Given the description of an element on the screen output the (x, y) to click on. 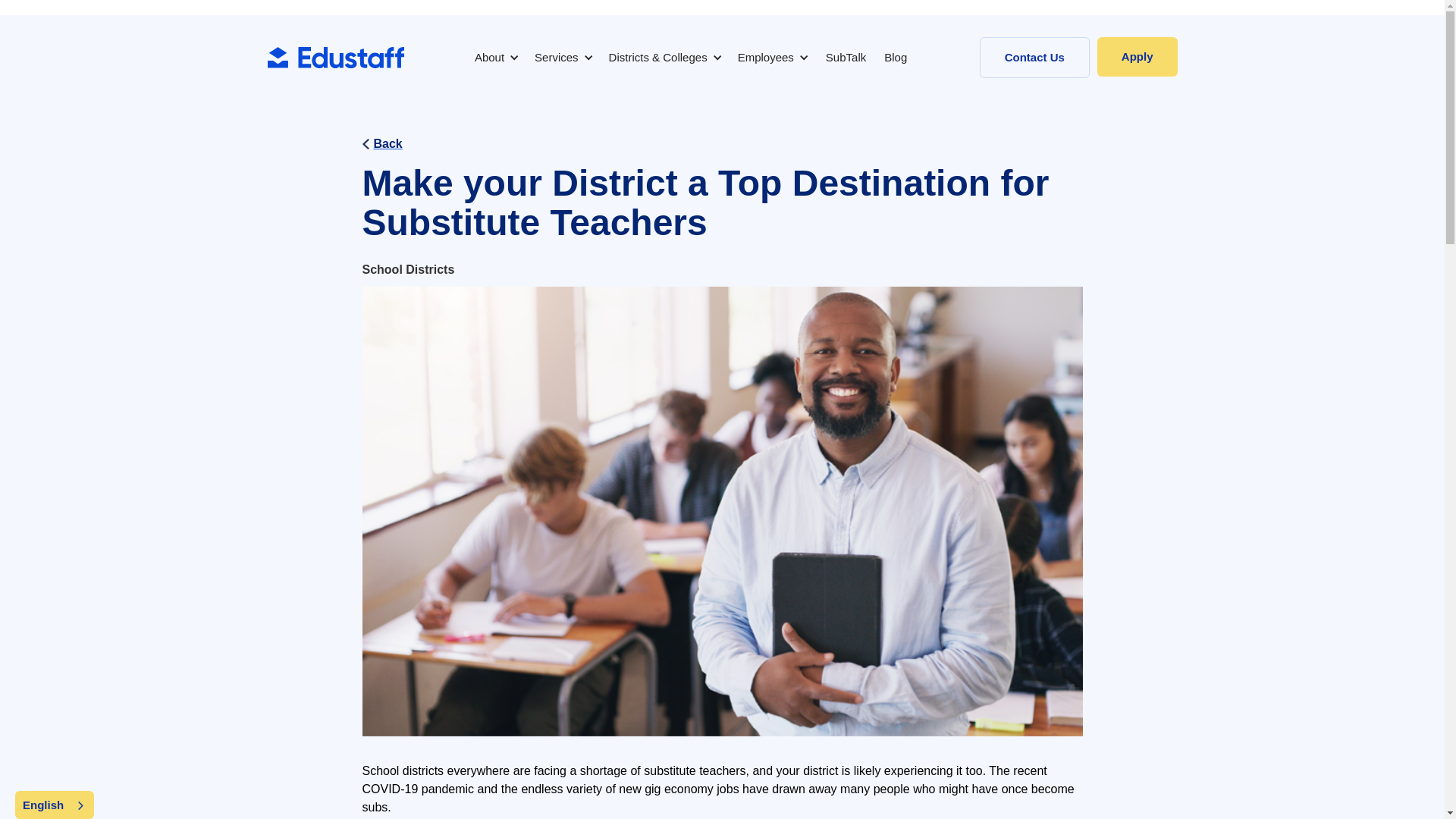
Blog (895, 57)
Back (722, 143)
SubTalk (845, 57)
